Given the description of an element on the screen output the (x, y) to click on. 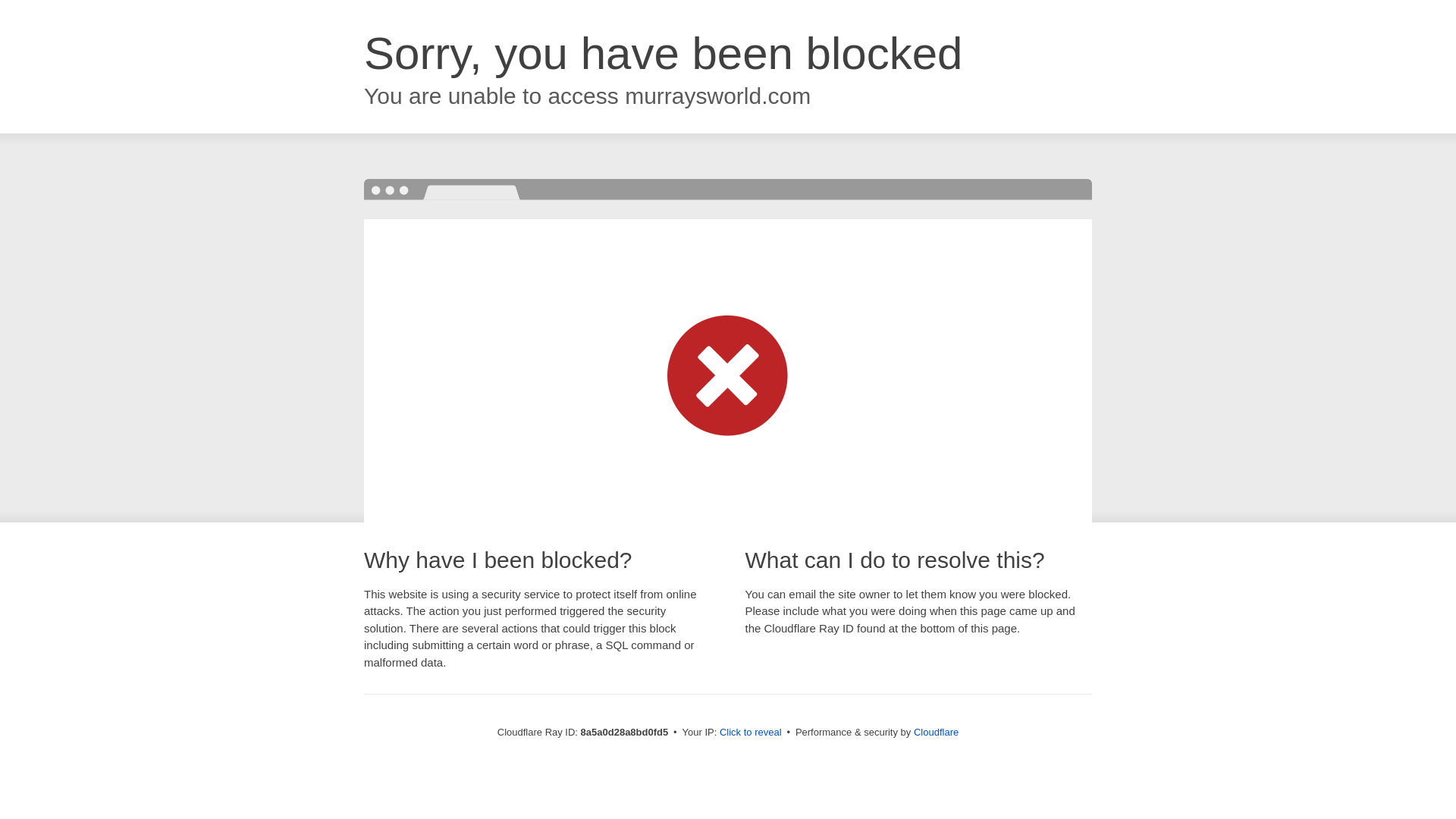
Click to reveal (750, 732)
Cloudflare (936, 731)
